Given the description of an element on the screen output the (x, y) to click on. 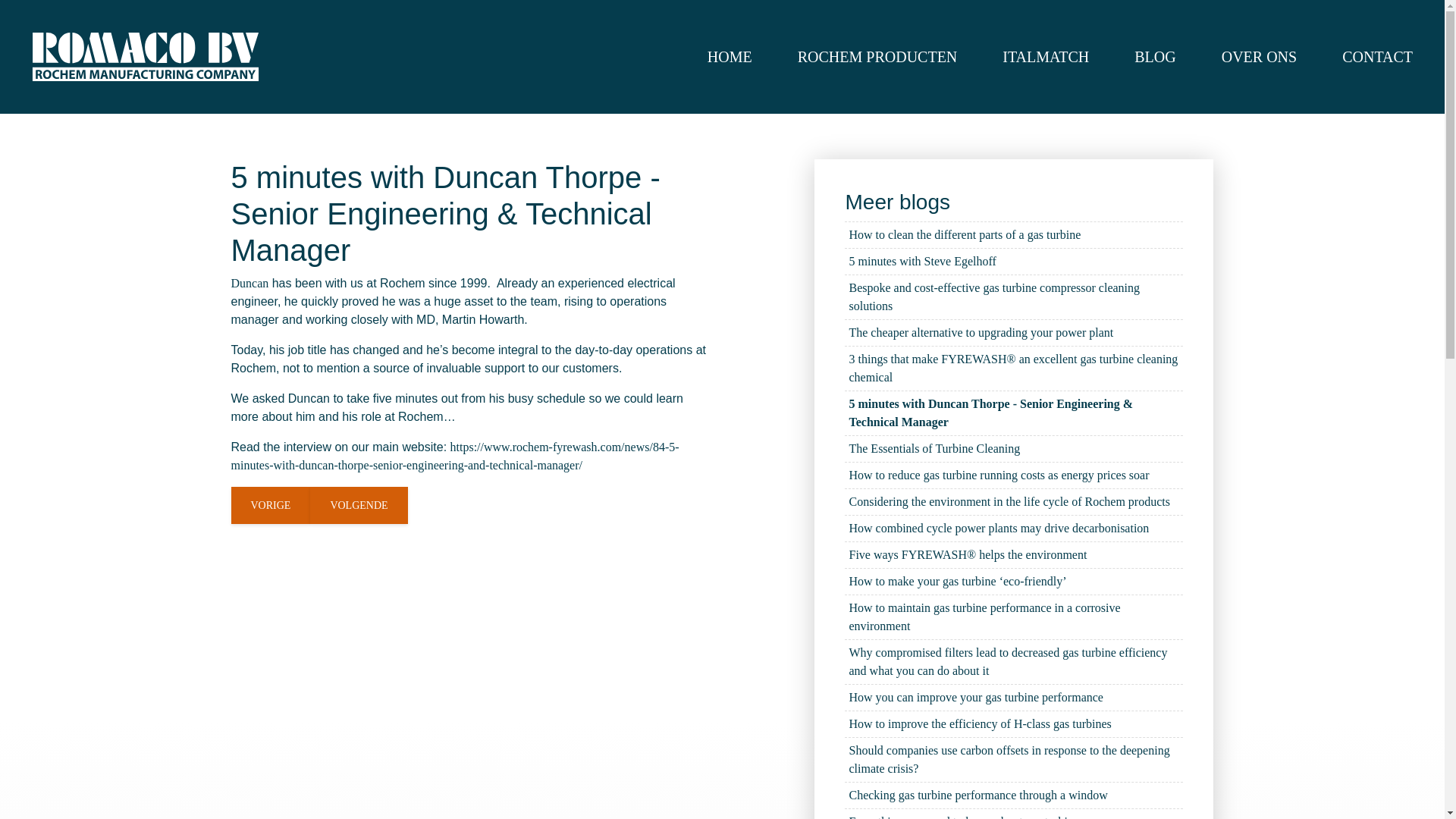
How to improve the efficiency of H-class gas turbines (1013, 724)
How you can improve your gas turbine performance (1013, 697)
5 minutes with Steve Egelhoff (1013, 261)
Checking gas turbine performance through a window (1013, 795)
How combined cycle power plants may drive decarbonisation (1013, 528)
The cheaper alternative to upgrading your power plant (1013, 333)
HOME (729, 56)
CONTACT (1377, 56)
OVER ONS (1258, 56)
How to clean the different parts of a gas turbine (1013, 234)
BLOG (1155, 56)
